Given the description of an element on the screen output the (x, y) to click on. 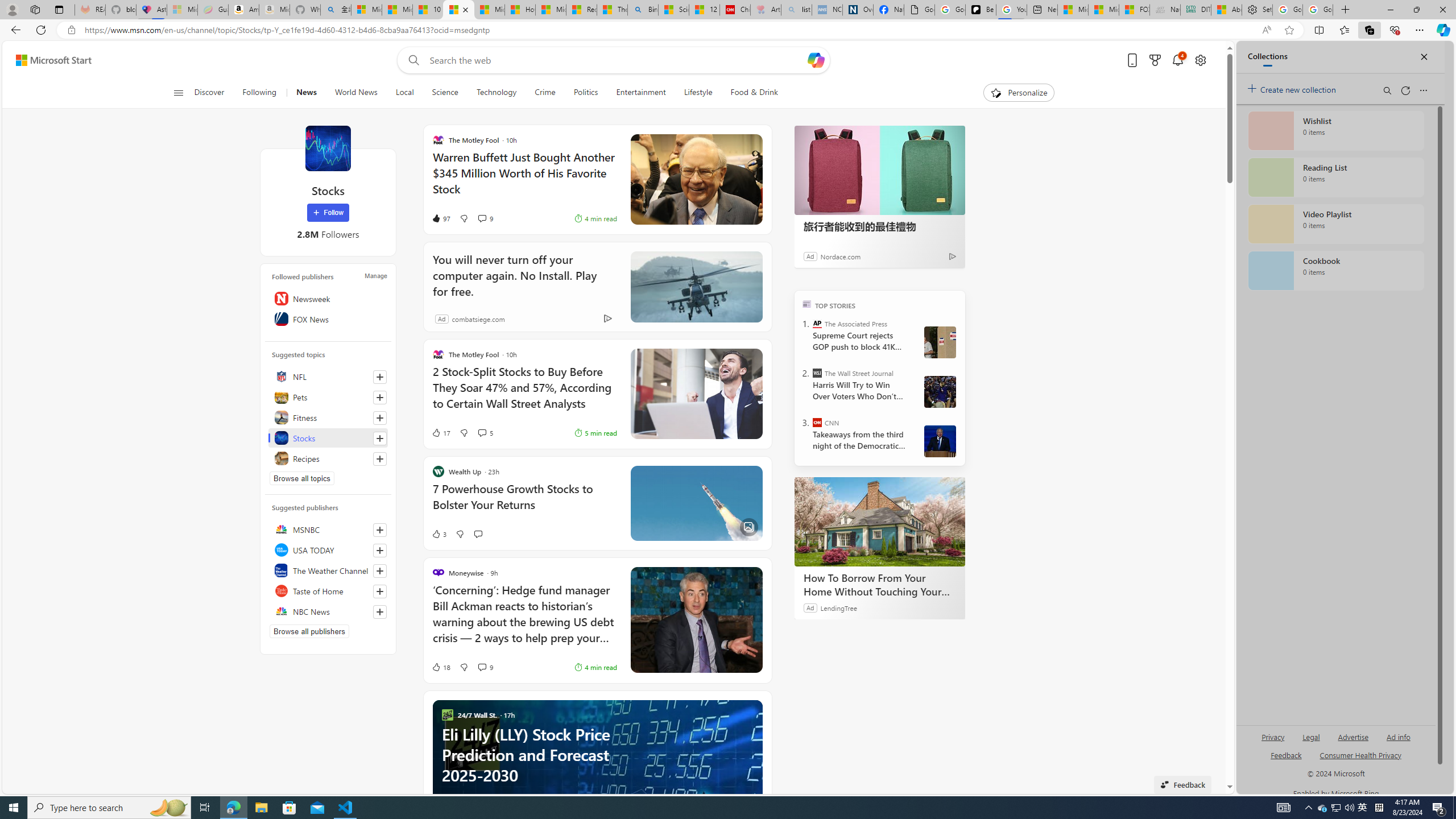
Pets (327, 397)
Nordace.com (839, 256)
View comments 9 Comment (485, 667)
Browse all topics (301, 477)
Navy Quest (1164, 9)
Technology (496, 92)
MSNBC (327, 529)
Skip to footer (46, 59)
